Given the description of an element on the screen output the (x, y) to click on. 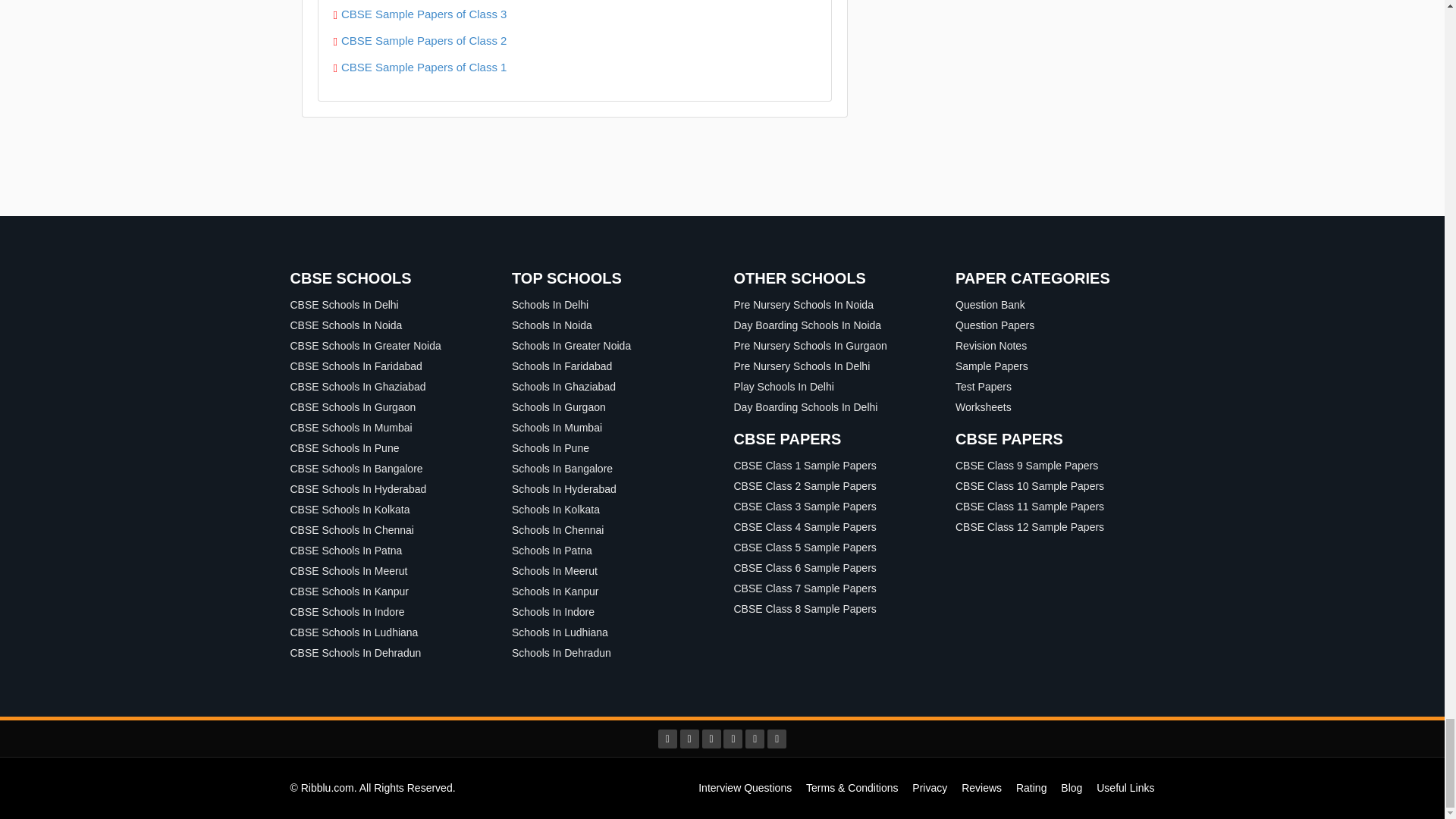
CBSE schools in Faridabad (355, 366)
CBSE schools in Gurgaon (351, 407)
CBSE schools in Kanpur (348, 591)
CBSE schools in Delhi (343, 304)
CBSE schools in Bangalore (355, 468)
CBSE schools in Noida (345, 325)
CBSE schools in Pune (343, 448)
CBSE schools in Chennai (351, 530)
CBSE schools in Mumbai (350, 427)
CBSE schools in Kolkata (349, 509)
